Given the description of an element on the screen output the (x, y) to click on. 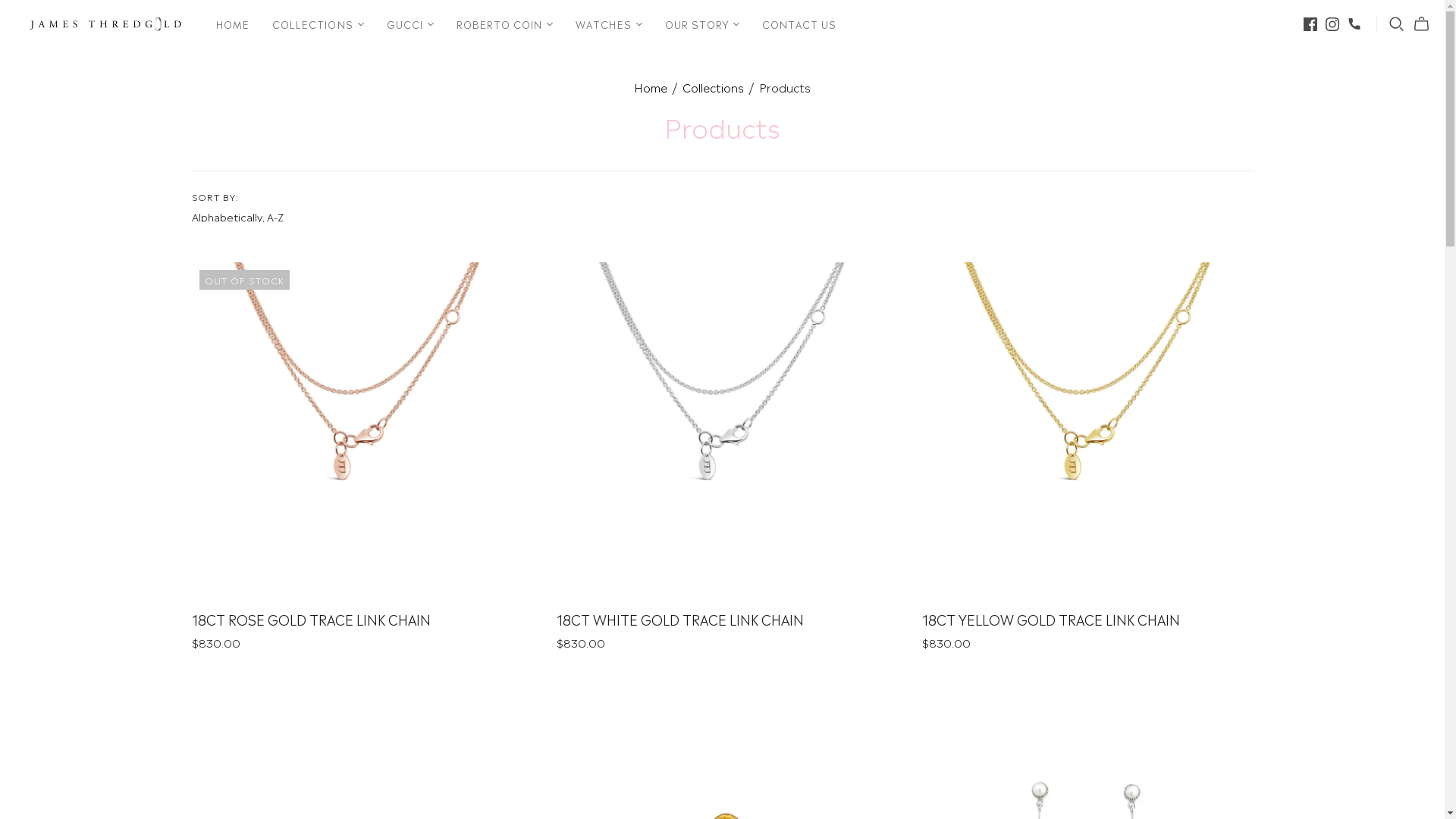
Home Element type: text (650, 86)
GUCCI Element type: text (410, 24)
OUR STORY Element type: text (701, 24)
COLLECTIONS Element type: text (317, 24)
Collections Element type: text (712, 86)
18CT WHITE GOLD TRACE LINK CHAIN Element type: text (679, 618)
ROBERTO COIN Element type: text (504, 24)
CONTACT US Element type: text (798, 24)
18CT ROSE GOLD TRACE LINK CHAIN Element type: text (310, 618)
HOME Element type: text (232, 24)
18CT YELLOW GOLD TRACE LINK CHAIN Element type: text (1050, 618)
WATCHES Element type: text (608, 24)
